Given the description of an element on the screen output the (x, y) to click on. 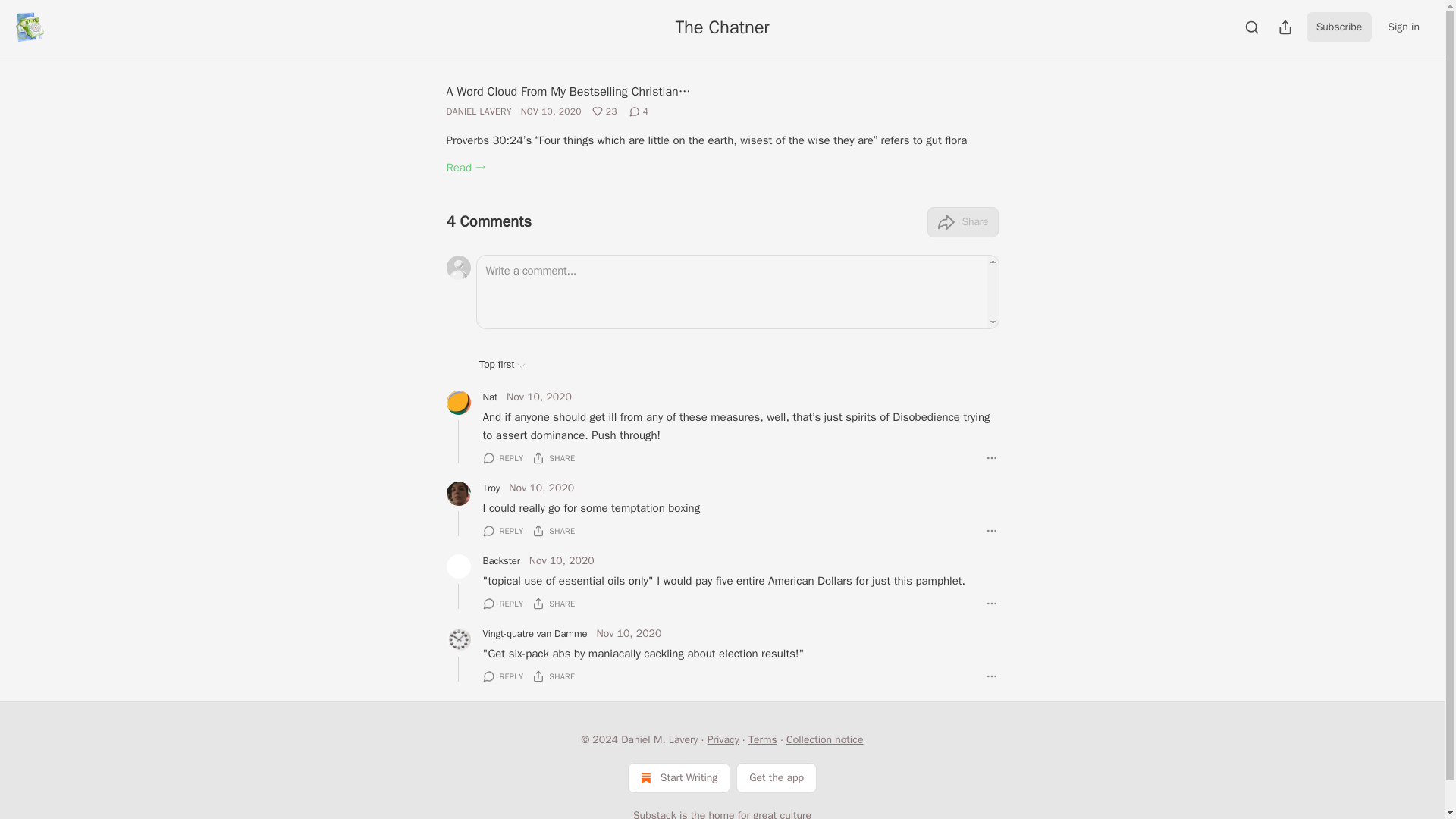
REPLY (501, 530)
4 (638, 111)
REPLY (501, 458)
The Chatner (722, 26)
23 (604, 111)
Subscribe (1339, 27)
Nov 10, 2020 (539, 396)
Share (962, 222)
SHARE (553, 458)
SHARE (553, 530)
